Given the description of an element on the screen output the (x, y) to click on. 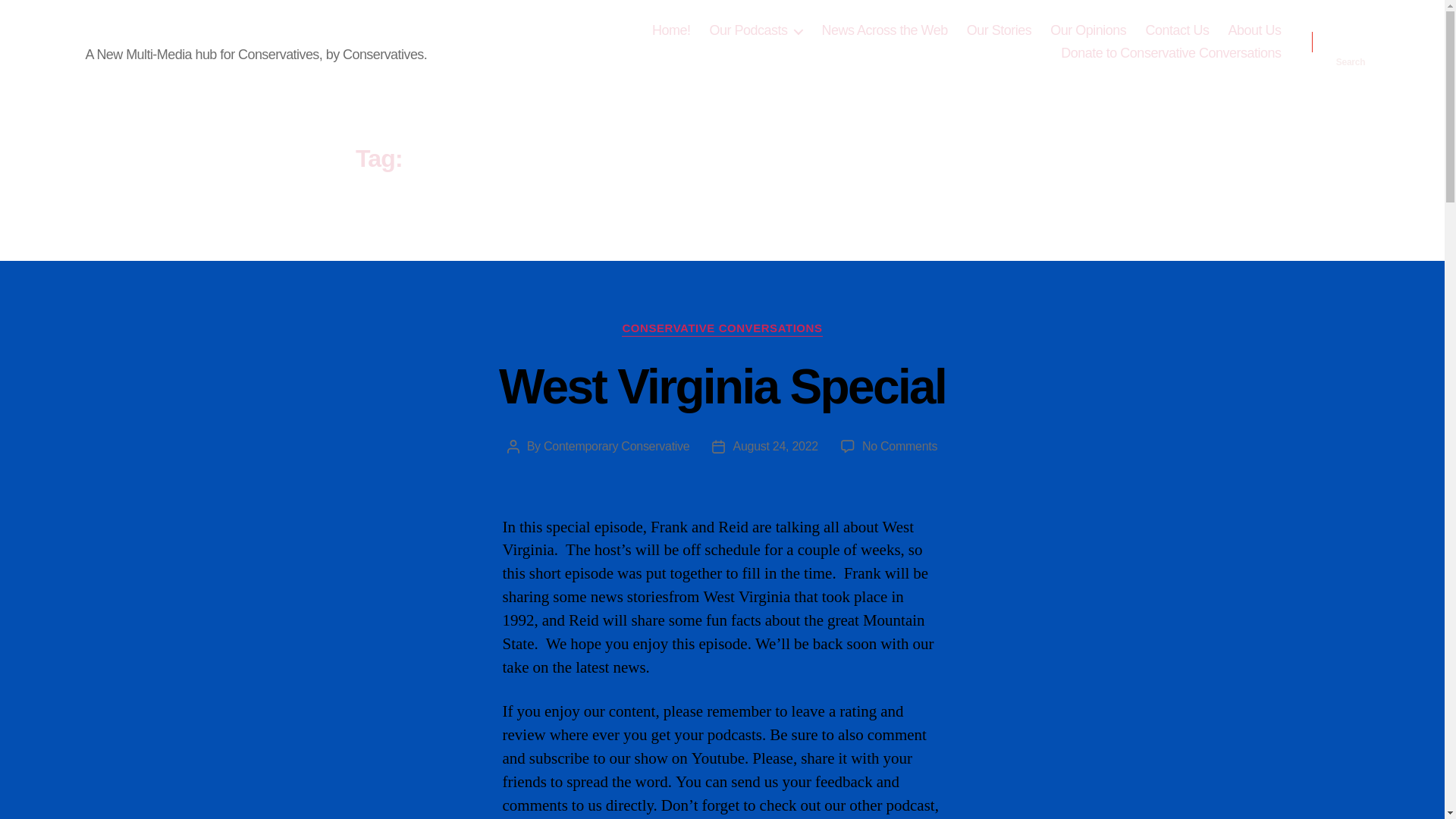
West Virginia Special (721, 386)
August 24, 2022 (775, 445)
Search (1350, 41)
Contact Us (1176, 30)
News Across the Web (884, 30)
Our Opinions (1087, 30)
Donate to Conservative Conversations (1171, 53)
CONSERVATIVE CONVERSATIONS (721, 328)
Our Podcasts (755, 30)
About Us (1254, 30)
